Given the description of an element on the screen output the (x, y) to click on. 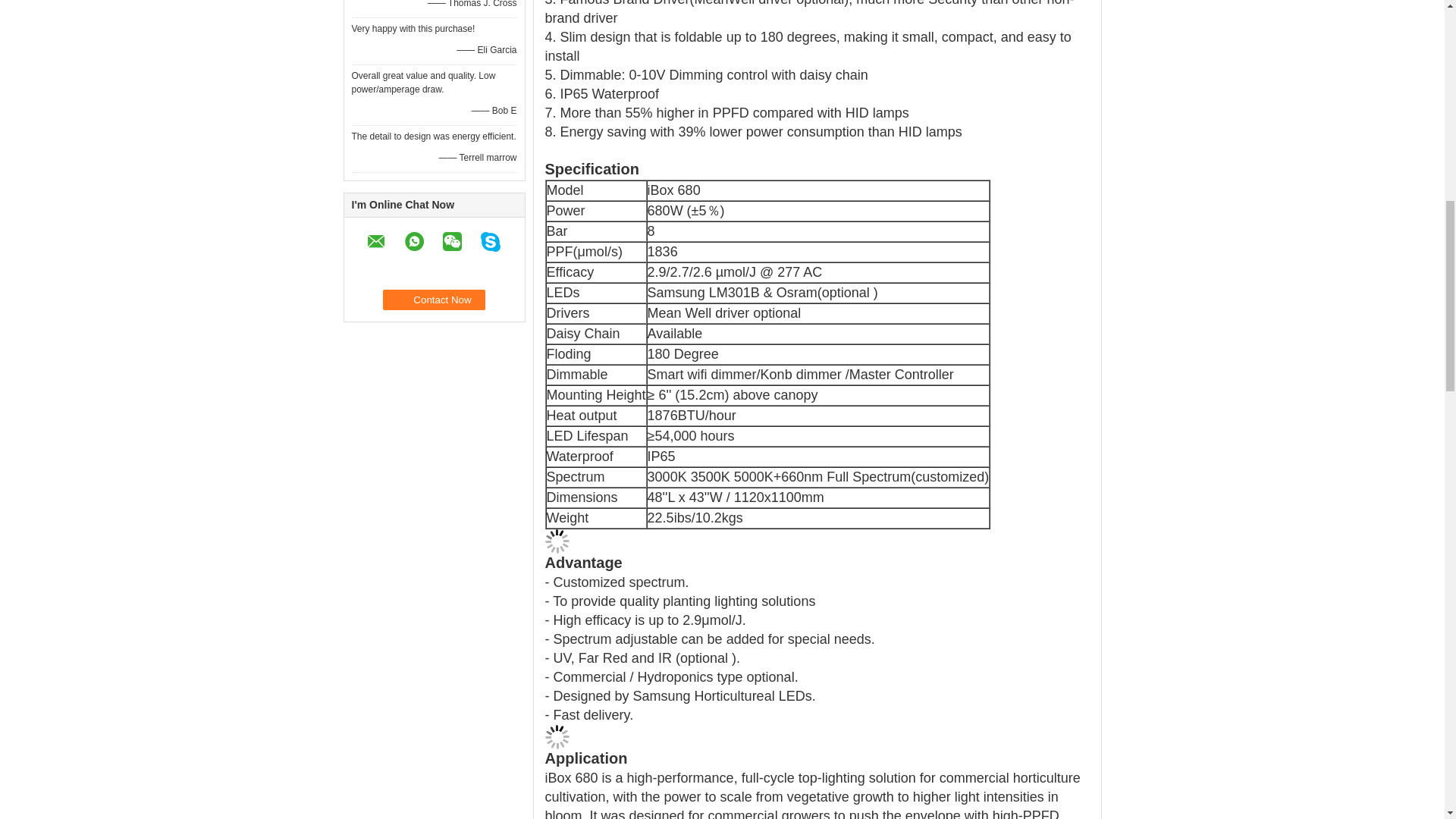
Contact Now (433, 299)
